Given the description of an element on the screen output the (x, y) to click on. 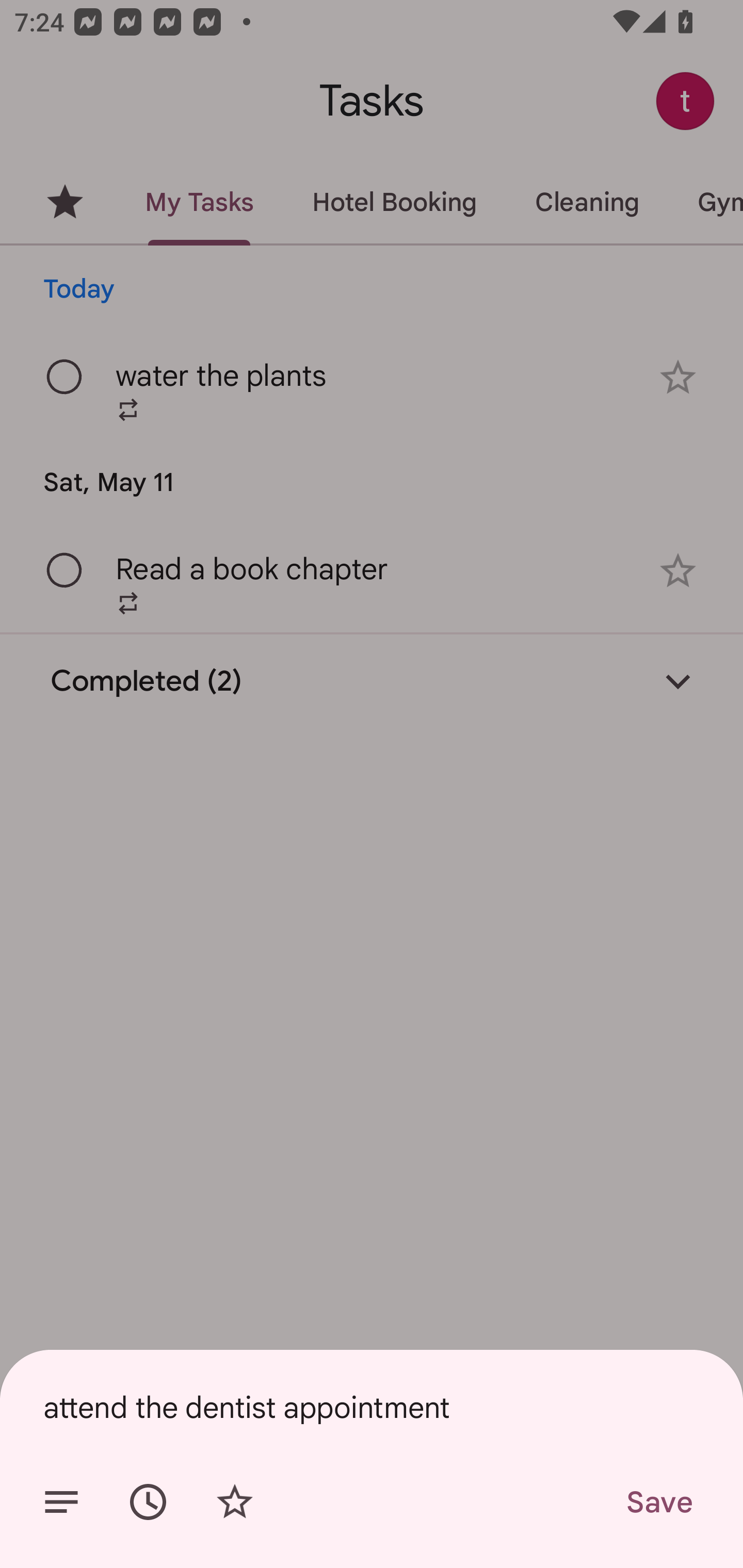
attend the dentist appointment (371, 1407)
Save (659, 1501)
Add details (60, 1501)
Set date/time (147, 1501)
Add star (234, 1501)
